Given the description of an element on the screen output the (x, y) to click on. 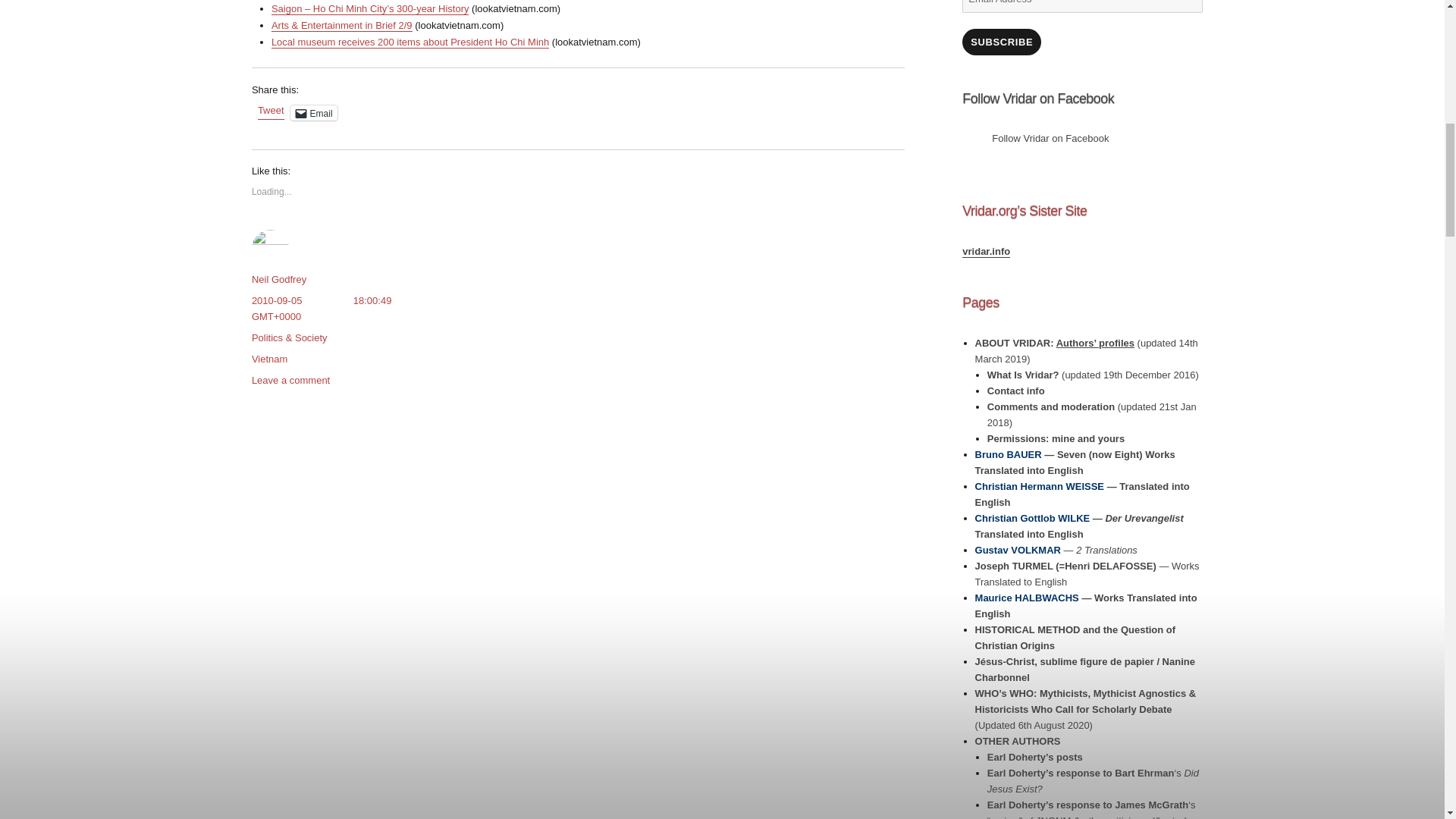
Vietnam (268, 358)
Email (313, 112)
Local museum receives 200 items about President Ho Chi Minh (409, 41)
Neil Godfrey (278, 279)
Leave a comment (290, 379)
Click to email a link to a friend (313, 112)
Tweet (270, 111)
